Given the description of an element on the screen output the (x, y) to click on. 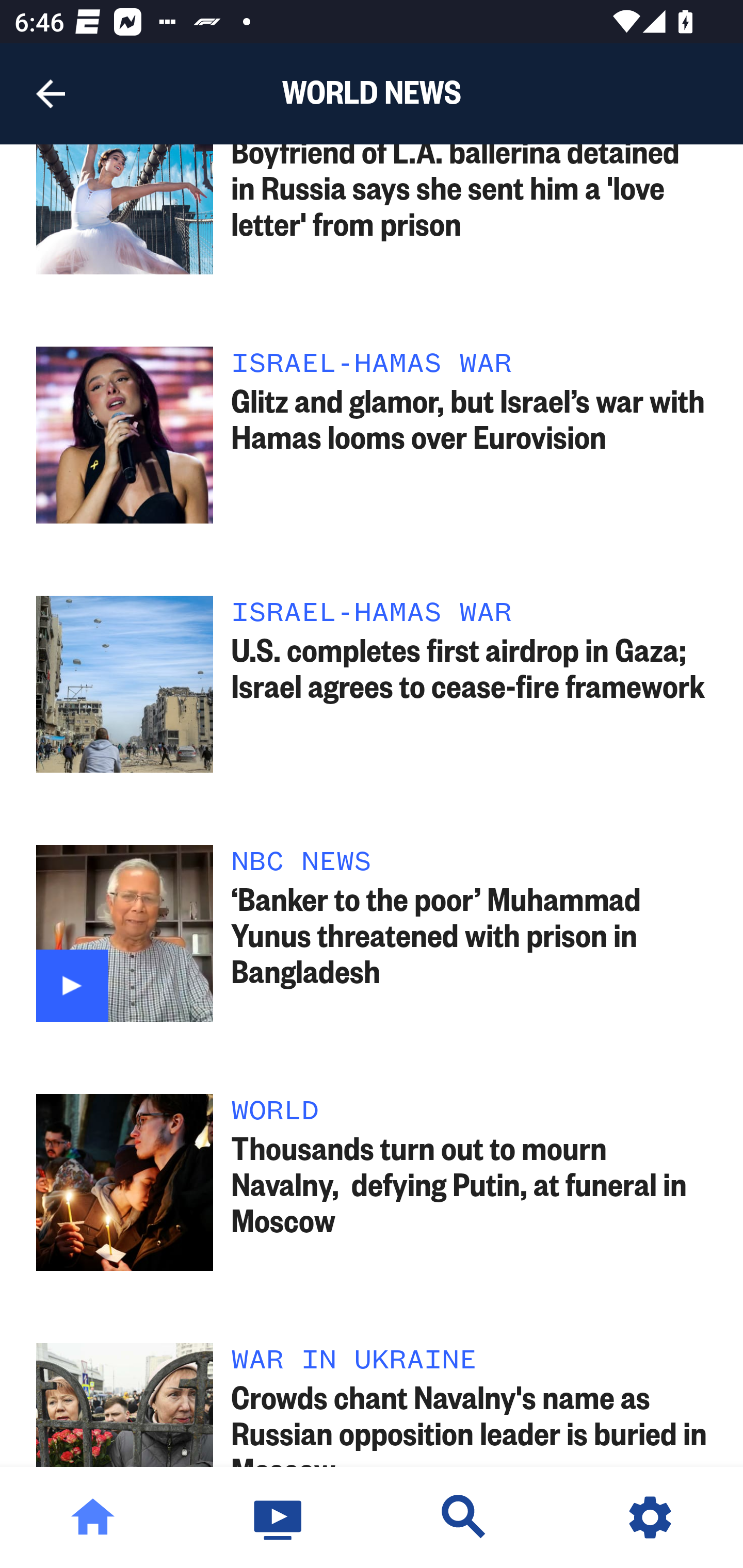
Navigate up (50, 93)
Watch (278, 1517)
Discover (464, 1517)
Settings (650, 1517)
